Given the description of an element on the screen output the (x, y) to click on. 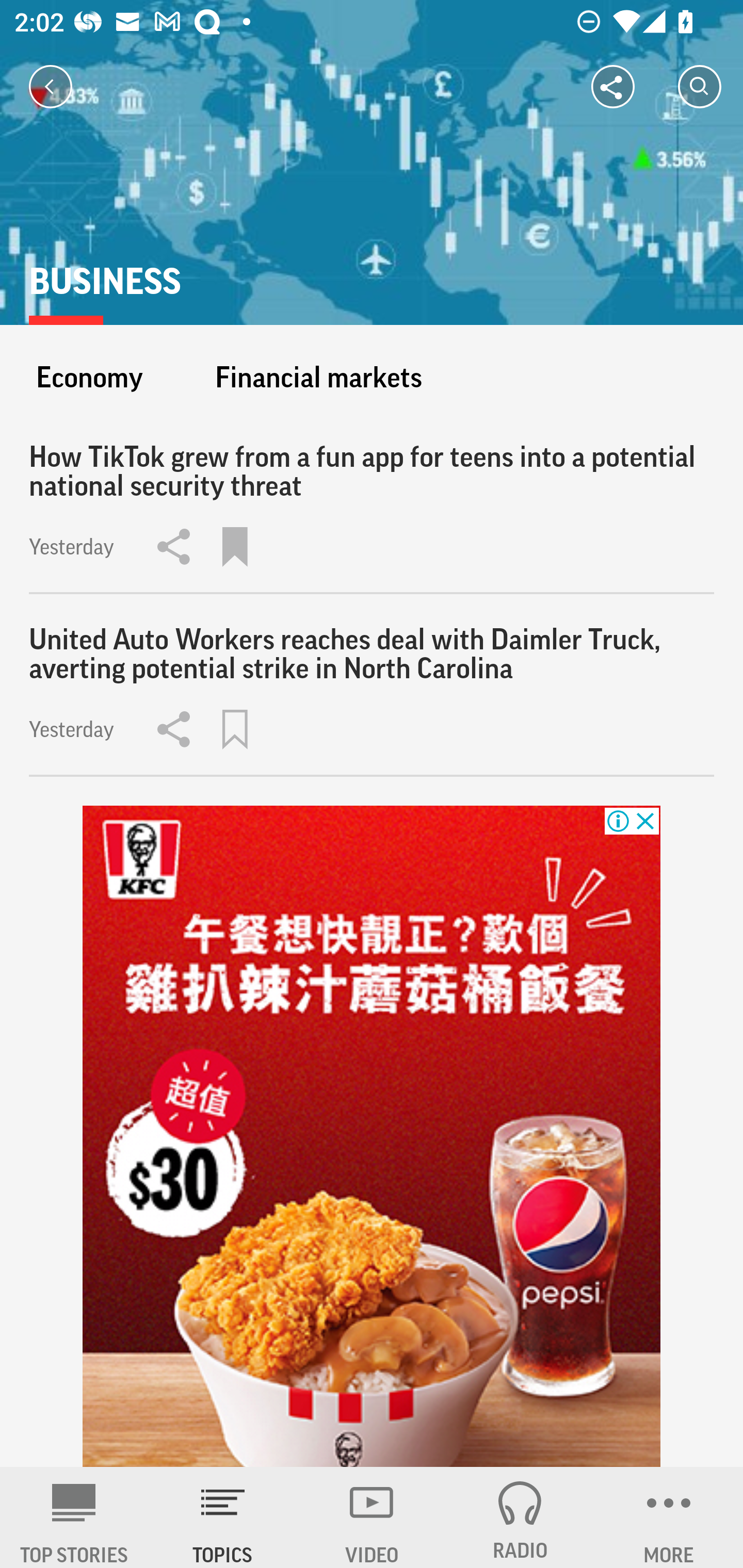
Economy (89, 376)
Financial markets (317, 376)
Advertisement (371, 1136)
AP News TOP STORIES (74, 1517)
TOPICS (222, 1517)
VIDEO (371, 1517)
RADIO (519, 1517)
MORE (668, 1517)
